Given the description of an element on the screen output the (x, y) to click on. 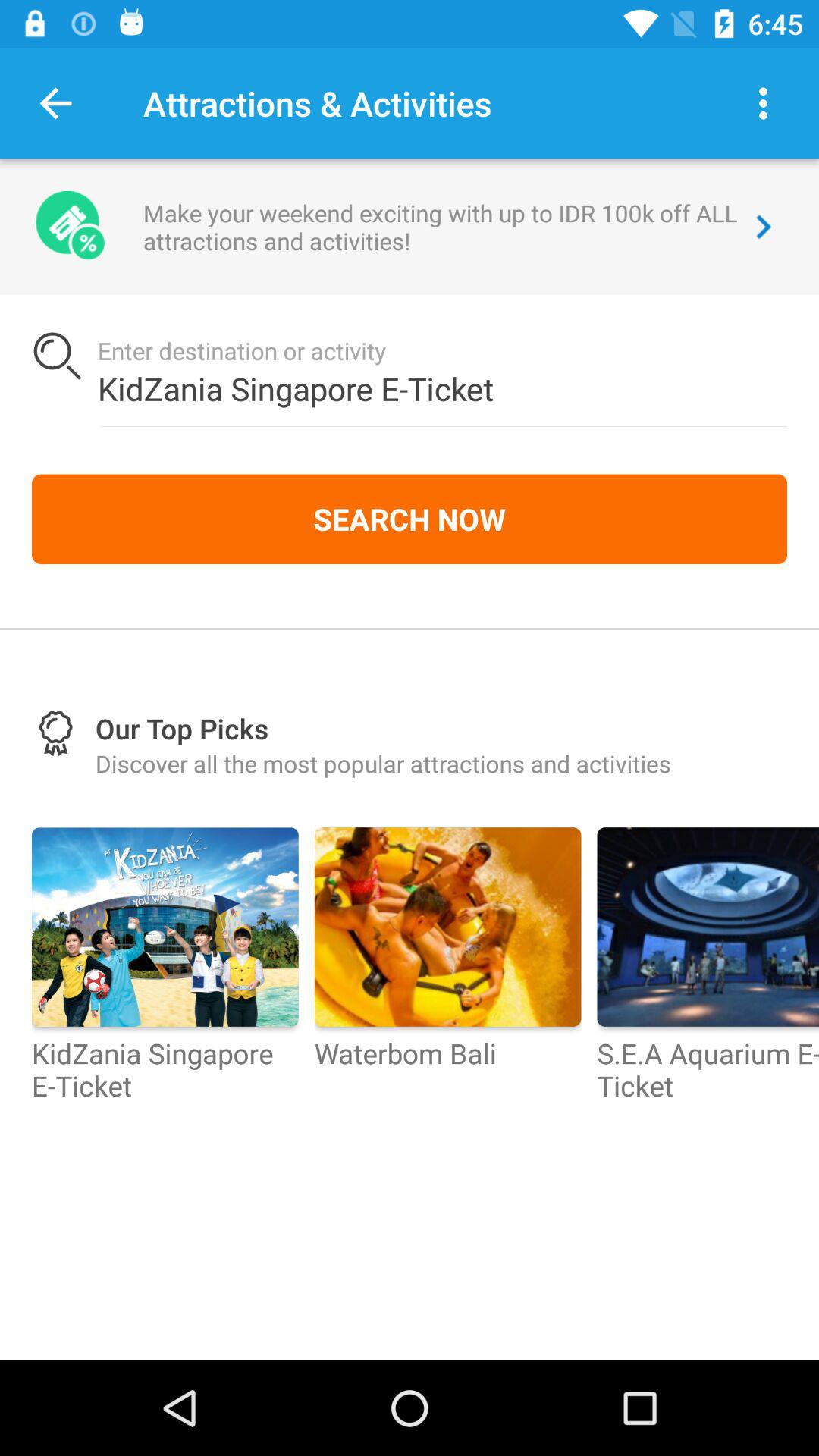
launch the item to the left of attractions & activities (55, 103)
